Given the description of an element on the screen output the (x, y) to click on. 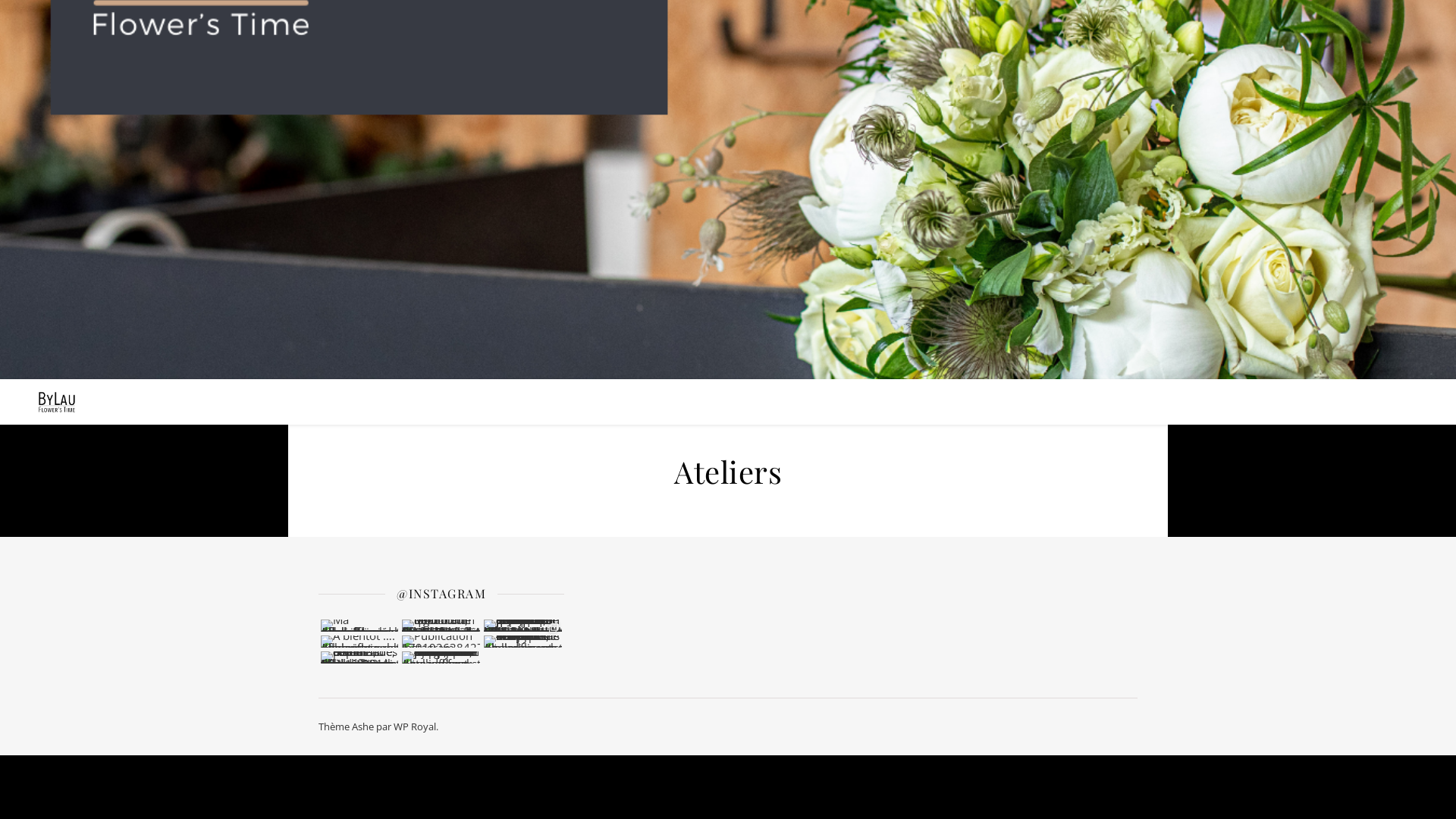
Pour nos Kids et leur institutrice, une box compre Element type: text (440, 657)
Publication 17919263842796012 Instagram Element type: text (440, 641)
Retrouver cette joie de fleurir vos doux moments, Element type: text (522, 641)
Et puis quelques heures avant de fermer la boutiqu Element type: text (522, 625)
WP Royal Element type: text (414, 726)
